Given the description of an element on the screen output the (x, y) to click on. 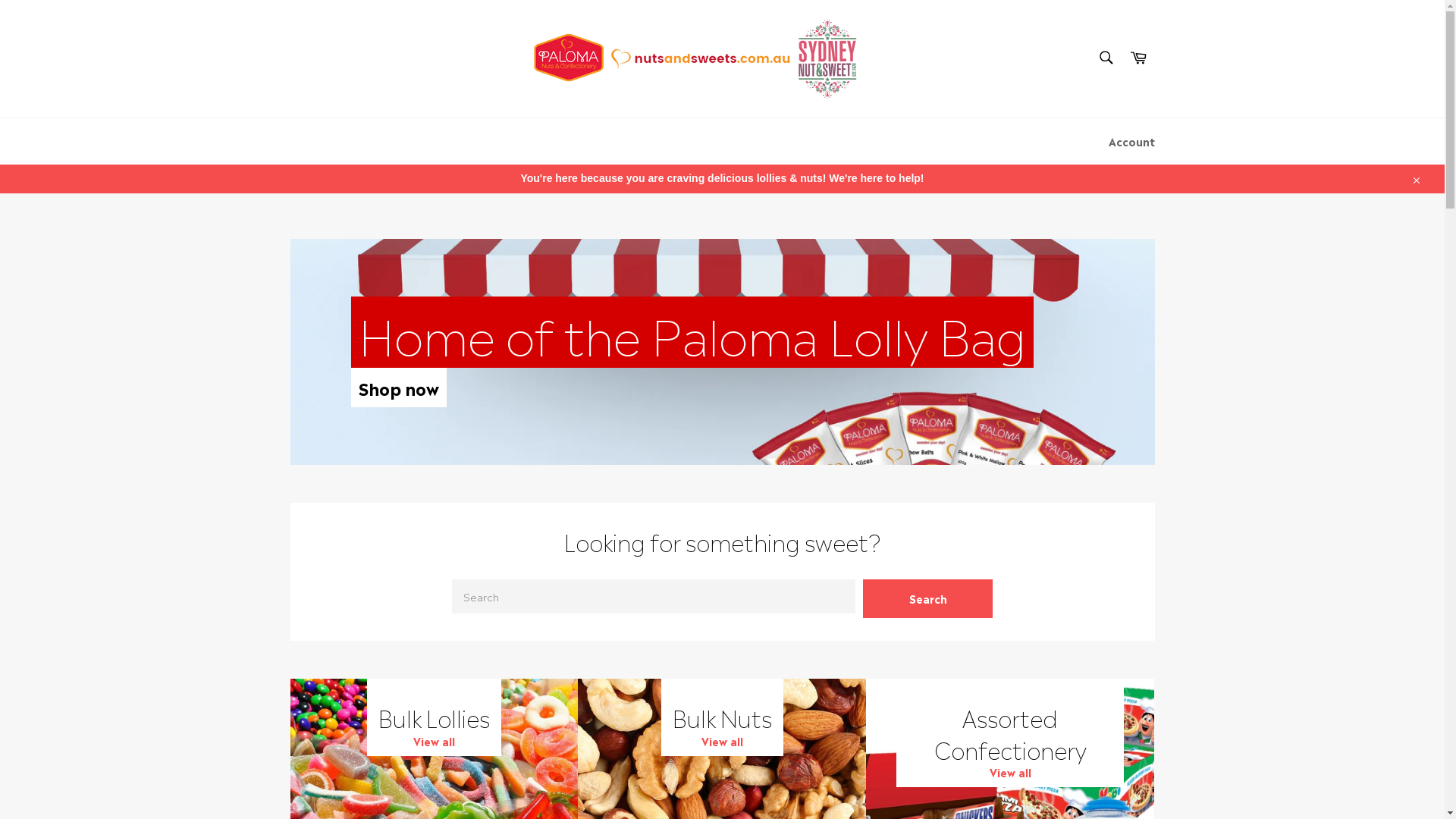
Cart Element type: text (1138, 58)
Search Element type: text (927, 598)
Shop now Element type: text (397, 387)
Account Element type: text (1131, 141)
Home of the Paloma Lolly Bag Element type: text (691, 331)
Close Element type: text (1415, 178)
Search Element type: text (1105, 57)
